Given the description of an element on the screen output the (x, y) to click on. 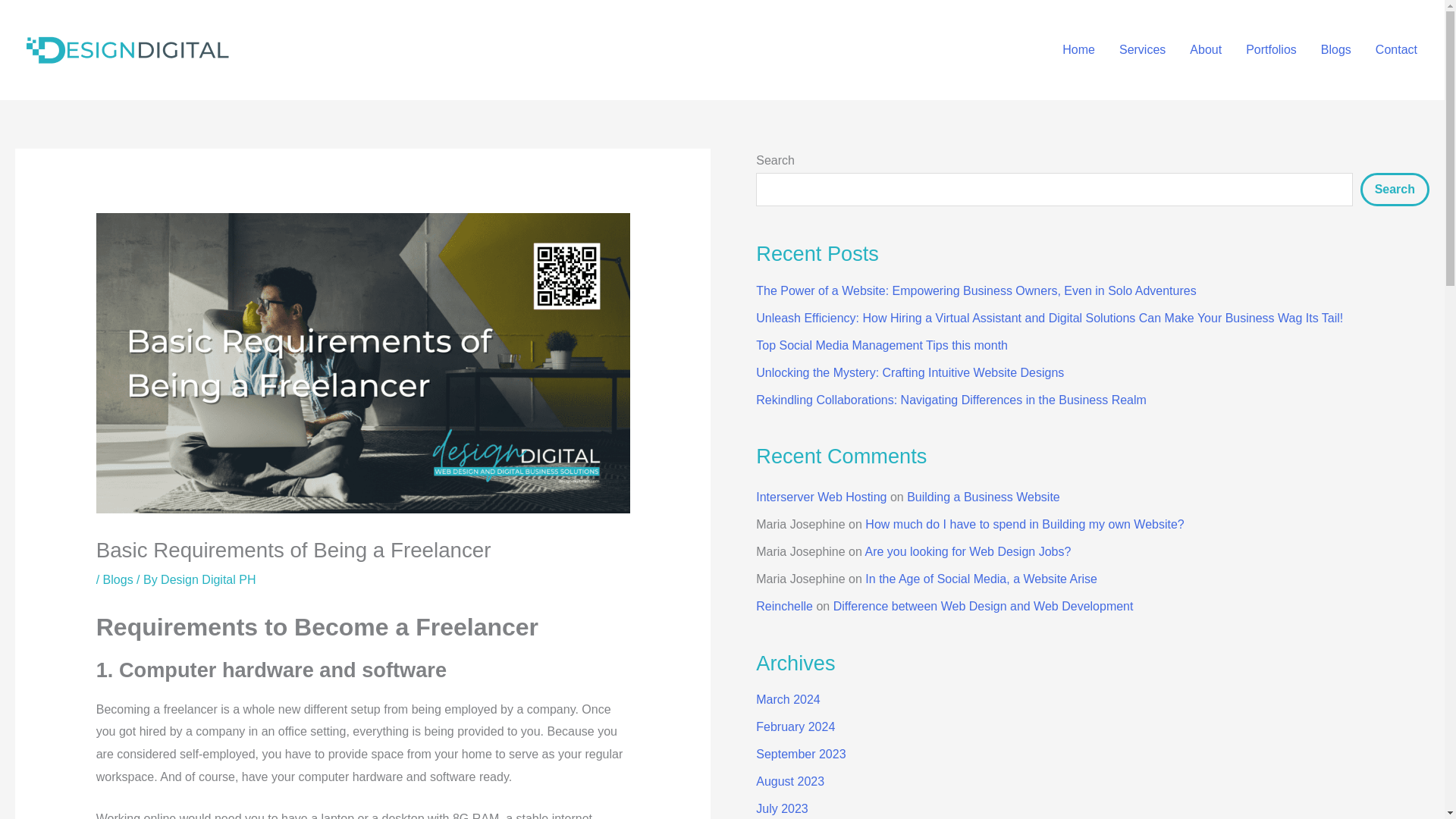
How much do I have to spend in Building my own Website? (1023, 523)
August 2023 (789, 780)
Contact (1395, 49)
September 2023 (800, 753)
Top Social Media Management Tips this month (881, 345)
Reinchelle (783, 605)
Blogs (118, 579)
Blogs (1335, 49)
Search (1394, 189)
Unlocking the Mystery: Crafting Intuitive Website Designs (909, 372)
Difference between Web Design and Web Development (983, 605)
About (1205, 49)
Are you looking for Web Design Jobs? (967, 551)
